Given the description of an element on the screen output the (x, y) to click on. 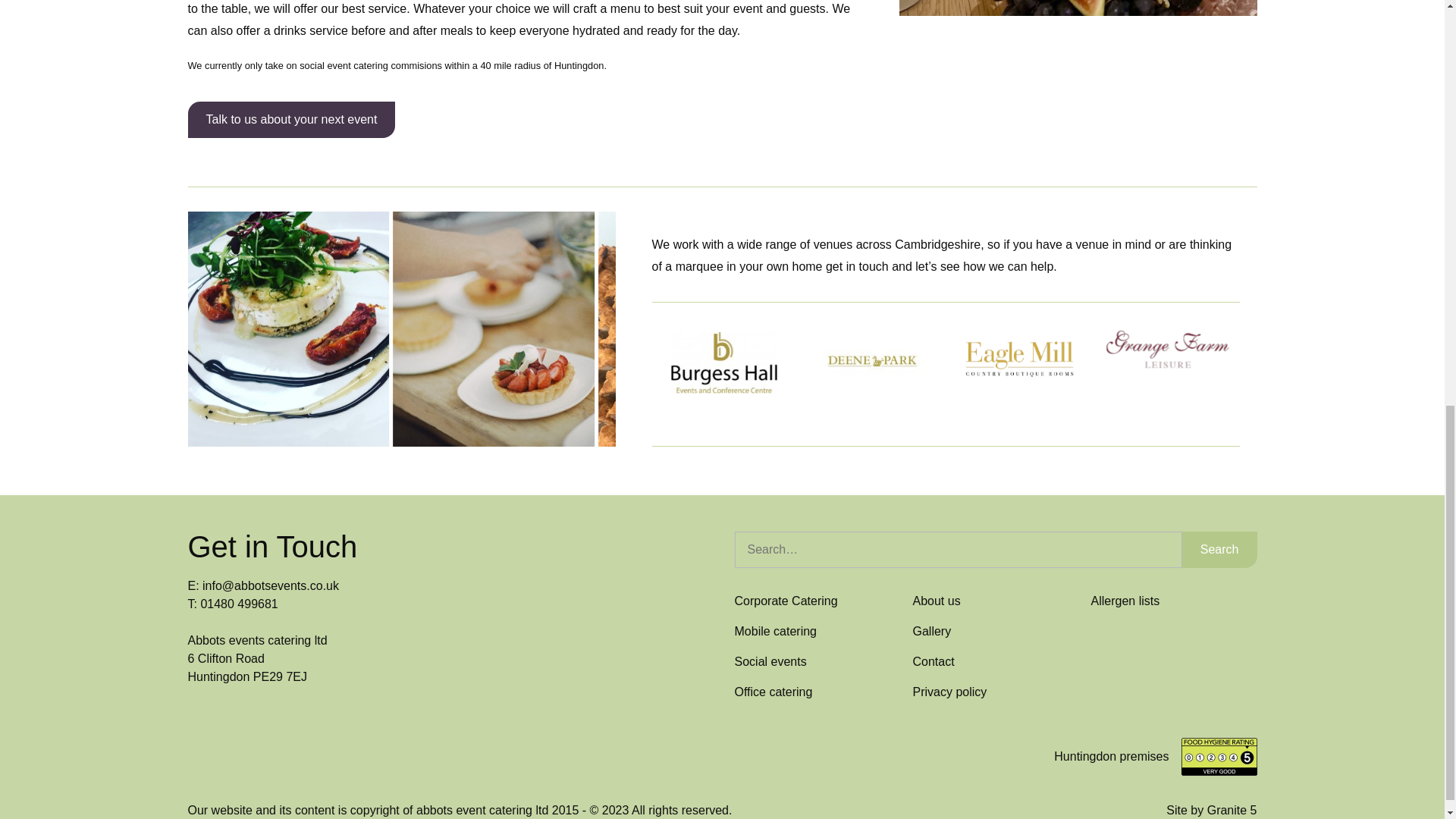
Talk to us about your next event (291, 119)
Corporate Catering (785, 600)
Search (1219, 549)
Huntingdon premises (1111, 756)
Allergen lists (1124, 600)
Search (1219, 549)
Social events (769, 661)
Privacy policy (949, 691)
Contact (933, 661)
About us (936, 600)
Search (1219, 549)
01480 499681 (239, 603)
Search for: (956, 549)
Mobile catering (774, 631)
Office catering (772, 691)
